Given the description of an element on the screen output the (x, y) to click on. 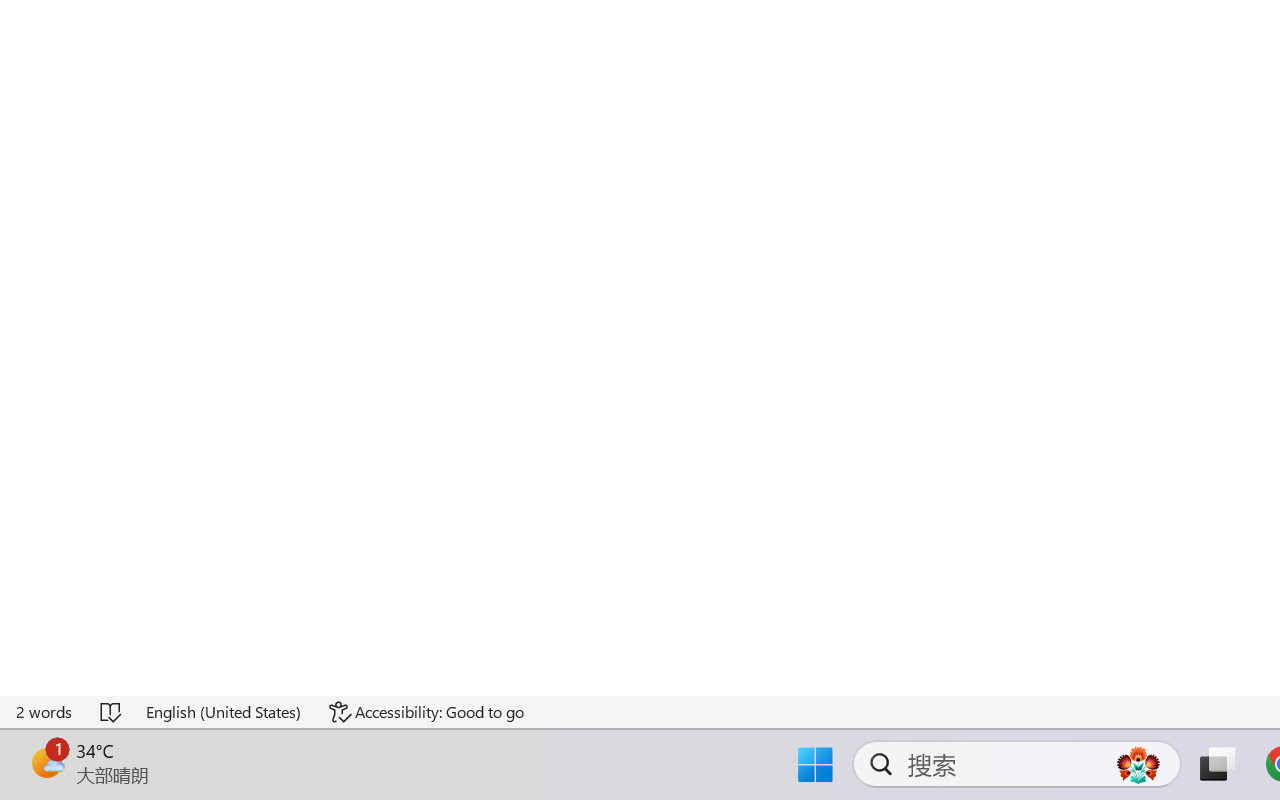
Accessibility Checker Accessibility: Good to go (426, 712)
Language English (United States) (224, 712)
AutomationID: DynamicSearchBoxGleamImage (1138, 764)
Spelling and Grammar Check No Errors (112, 712)
Word Count 2 words (45, 712)
AutomationID: BadgeAnchorLargeTicker (46, 762)
